Given the description of an element on the screen output the (x, y) to click on. 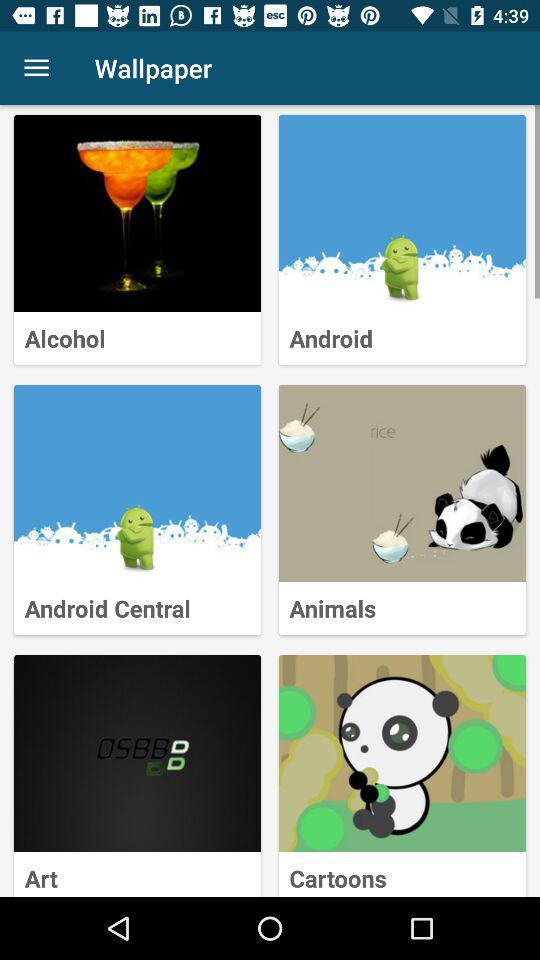
selects a wallpaper (137, 213)
